Given the description of an element on the screen output the (x, y) to click on. 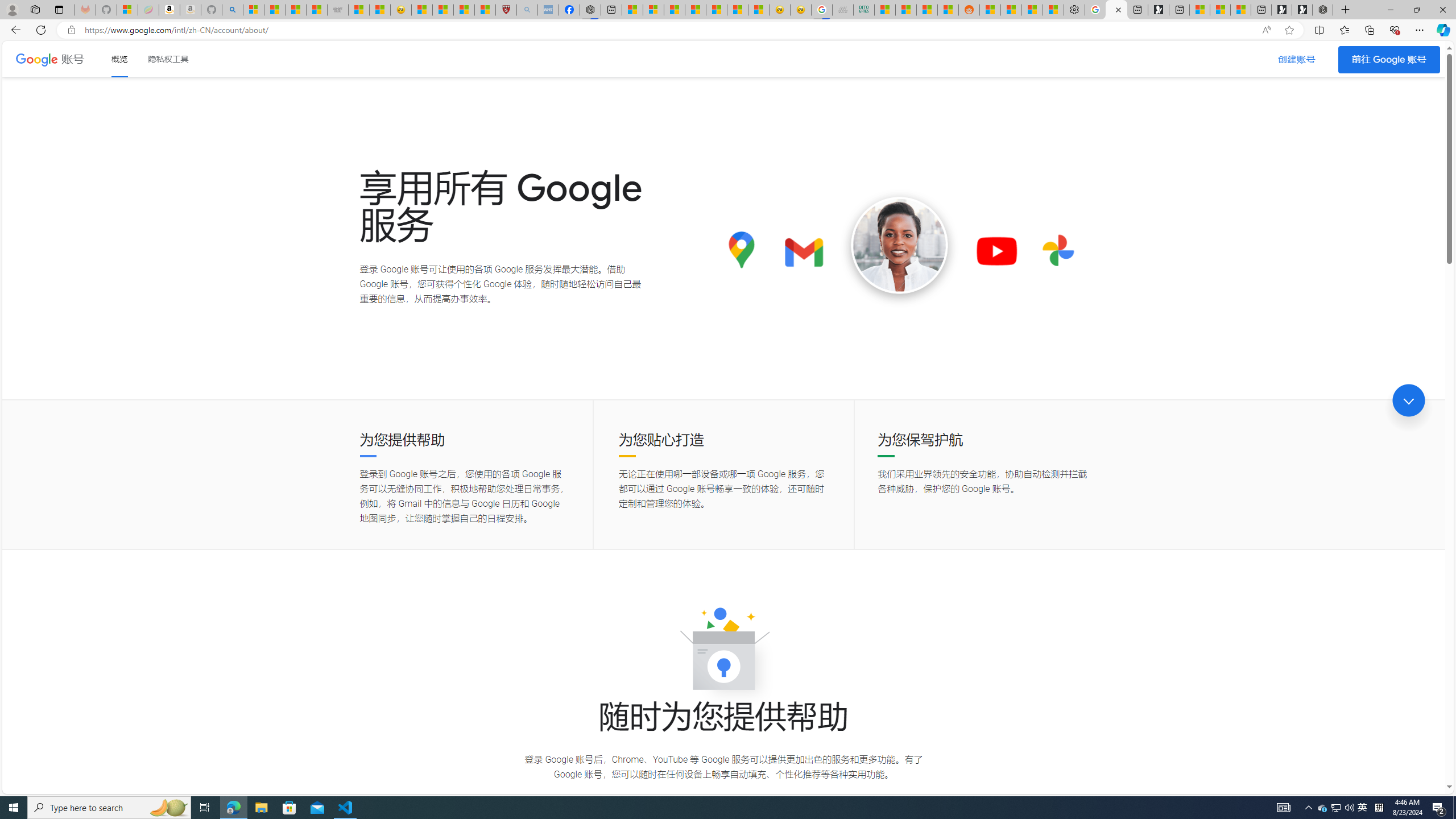
R******* | Trusted Community Engagement and Contributions (990, 9)
